Given the description of an element on the screen output the (x, y) to click on. 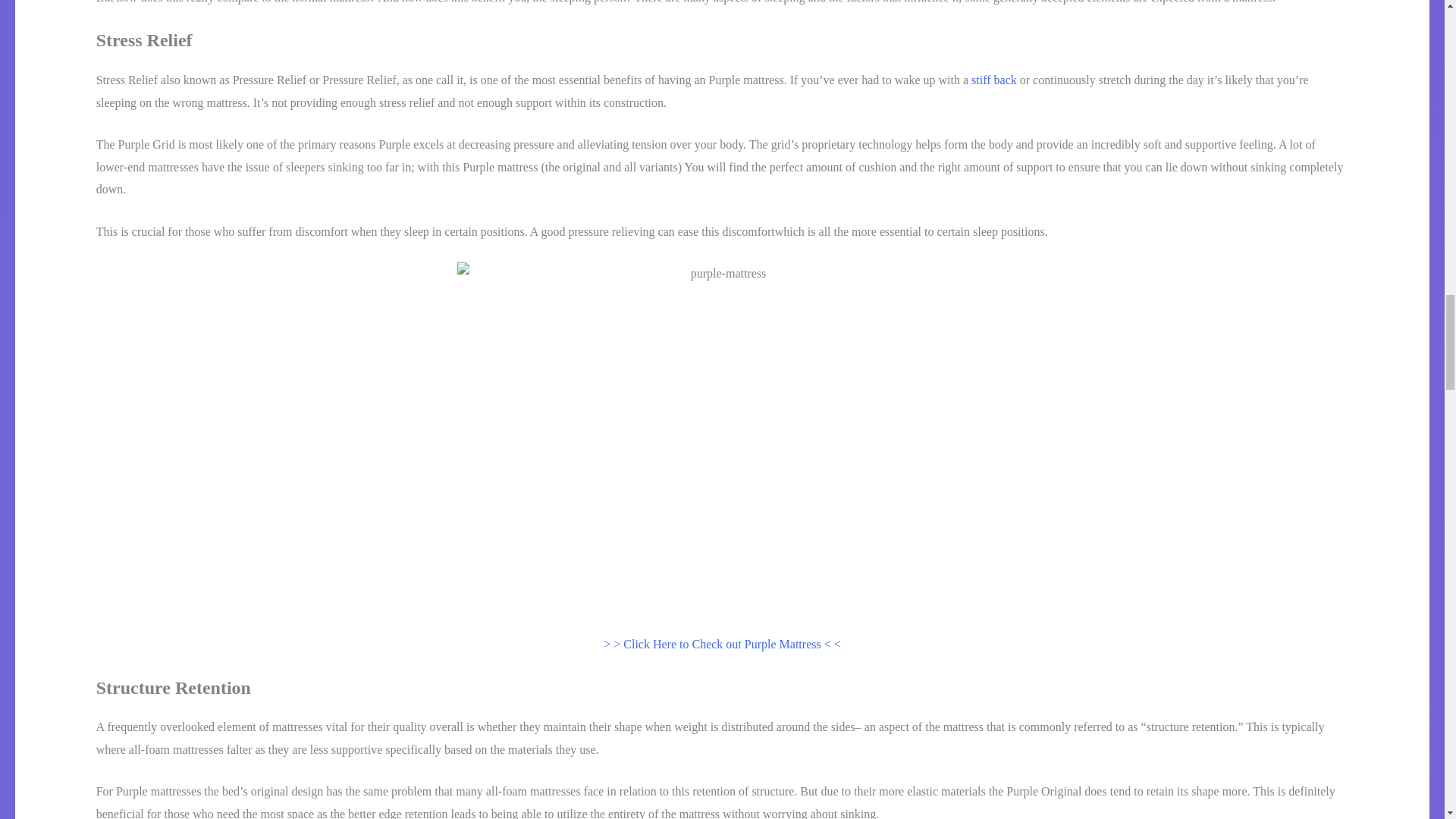
stiff back (993, 79)
